Given the description of an element on the screen output the (x, y) to click on. 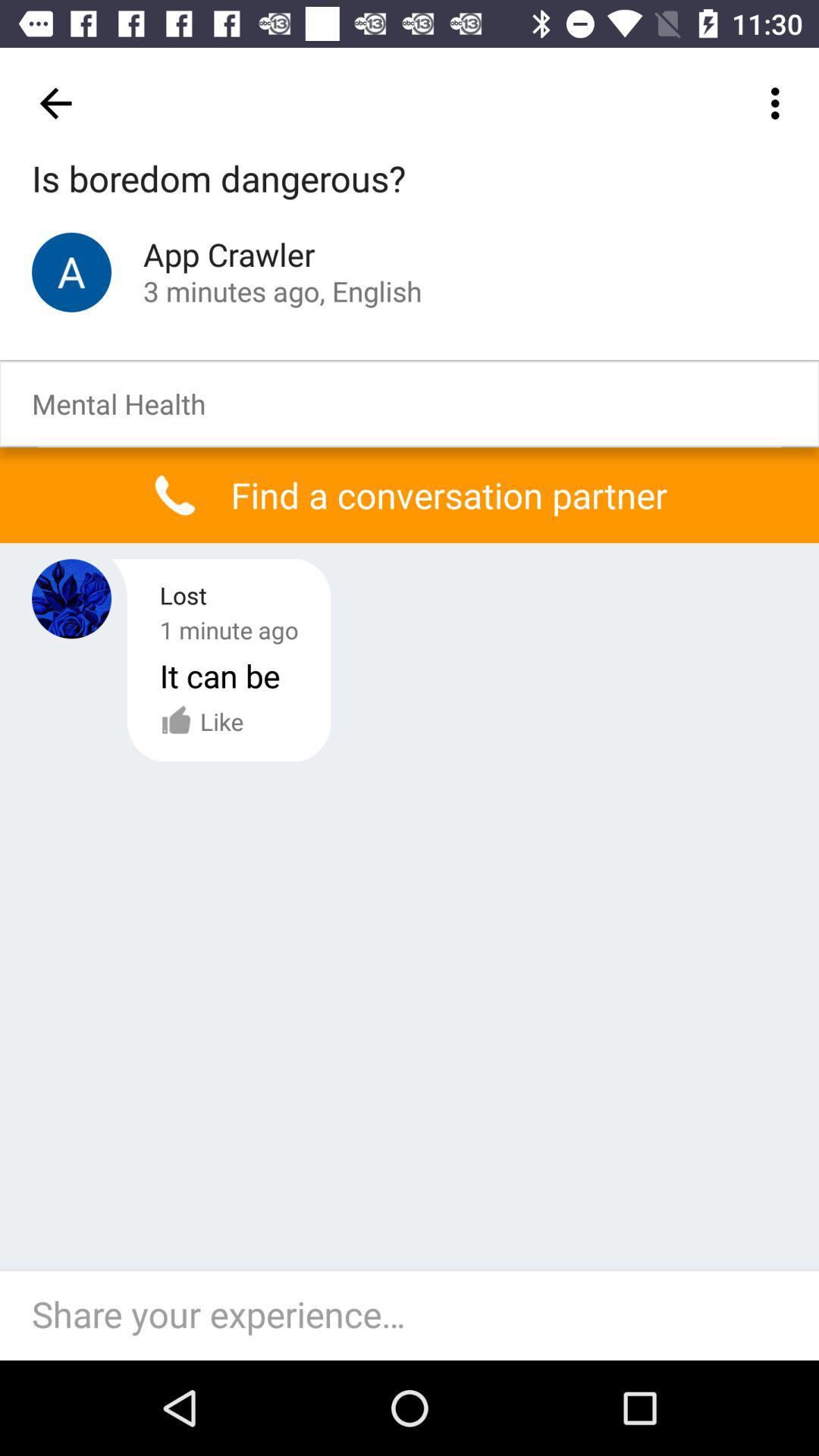
select app crawler (71, 272)
